Given the description of an element on the screen output the (x, y) to click on. 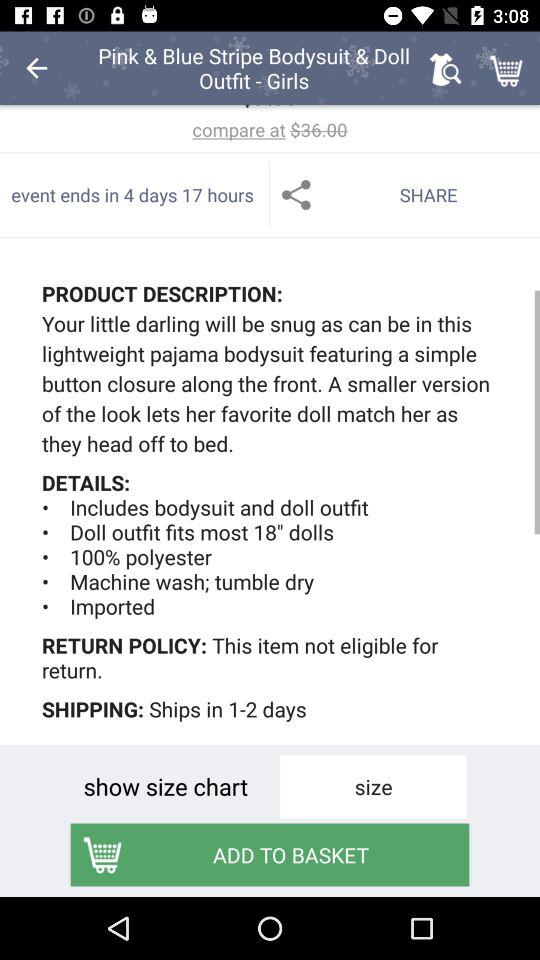
jump until the add to basket item (269, 854)
